Given the description of an element on the screen output the (x, y) to click on. 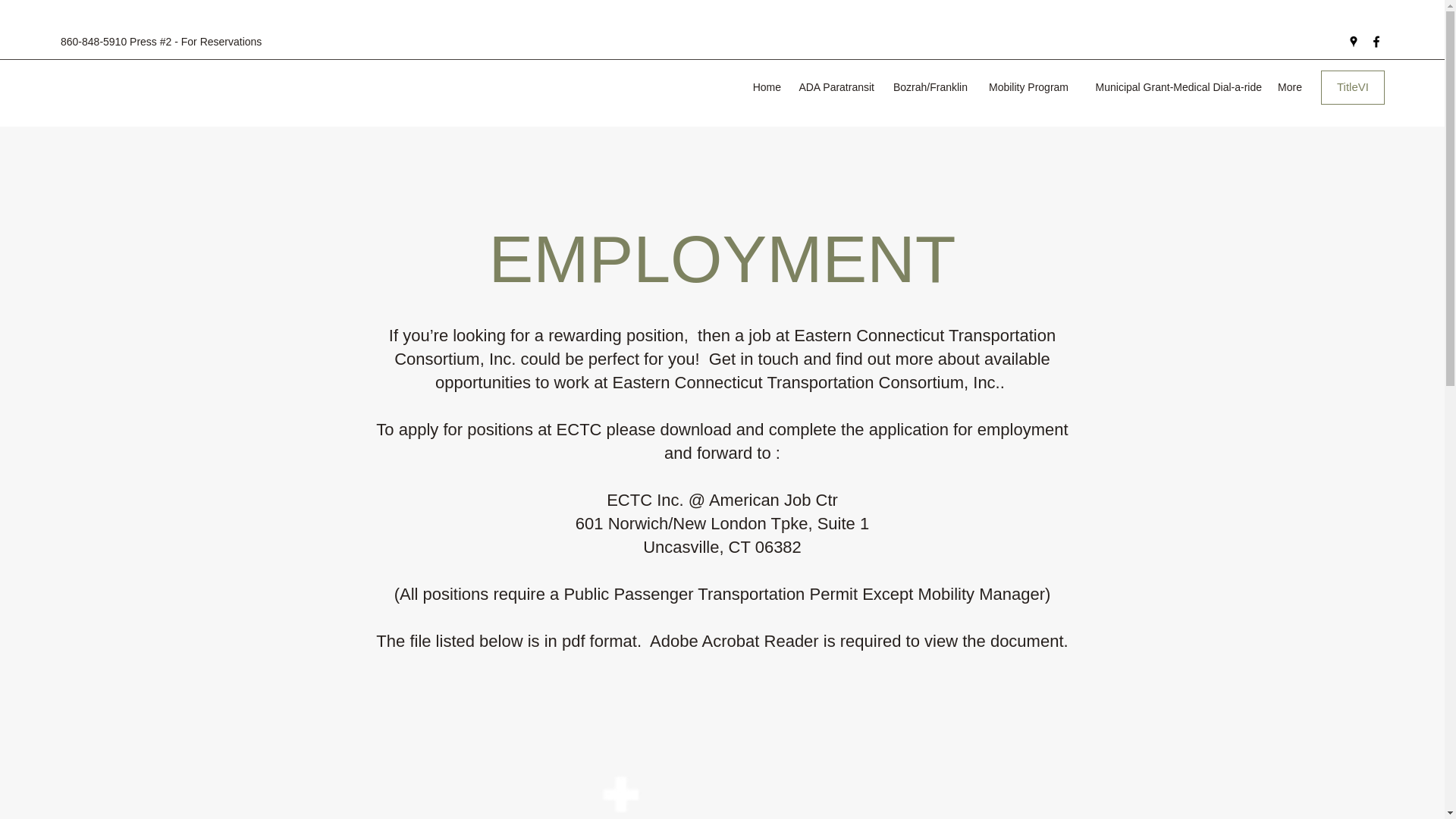
Mobility Program (1025, 87)
Home (766, 87)
ADA Paratransit (835, 87)
Municipal Grant-Medical Dial-a-ride (1172, 87)
TitleVI (1352, 87)
